Given the description of an element on the screen output the (x, y) to click on. 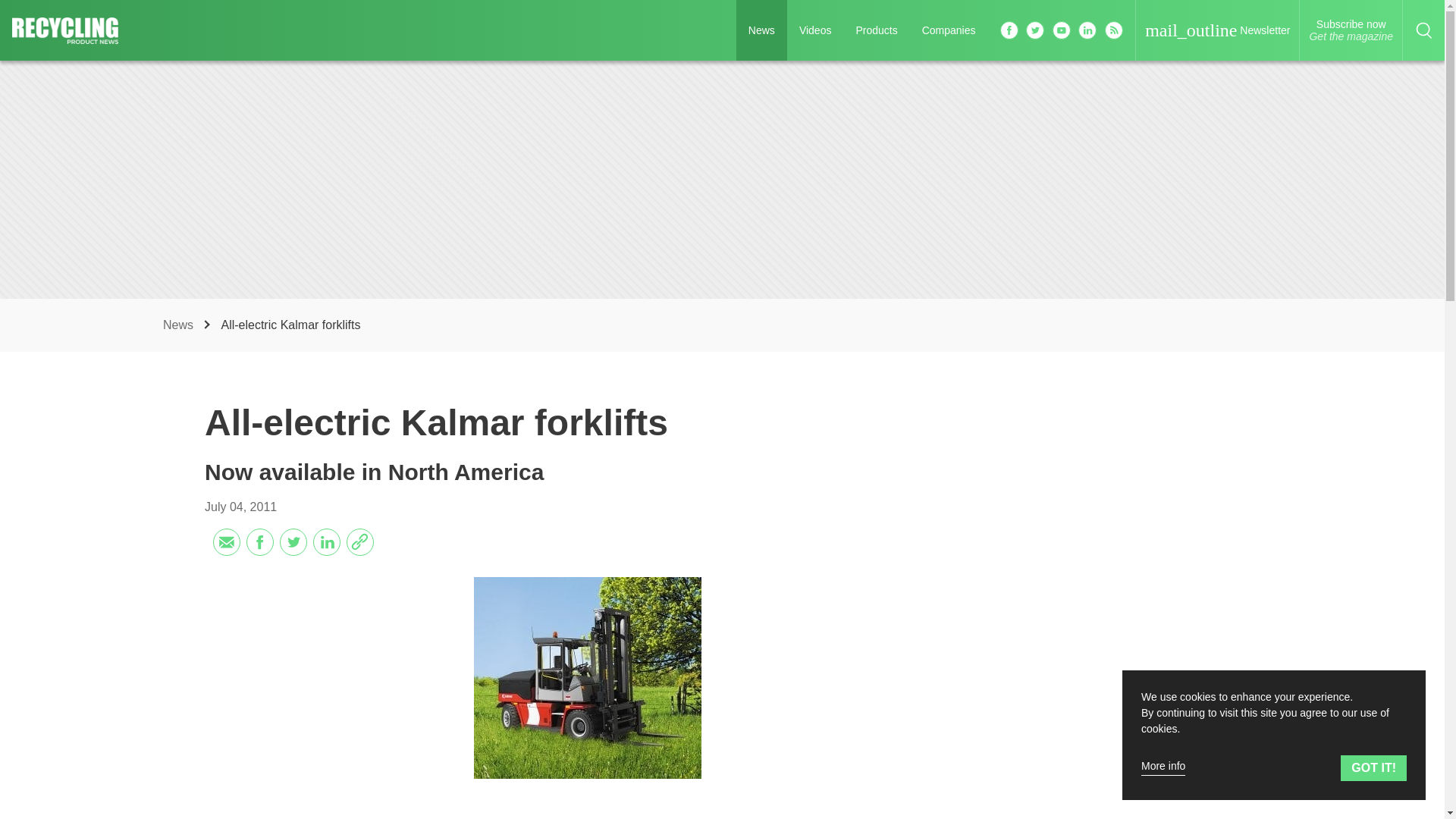
All-electric Kalmar forklifts (587, 677)
Videos (815, 30)
News (179, 324)
Companies (949, 30)
Products (875, 30)
